Given the description of an element on the screen output the (x, y) to click on. 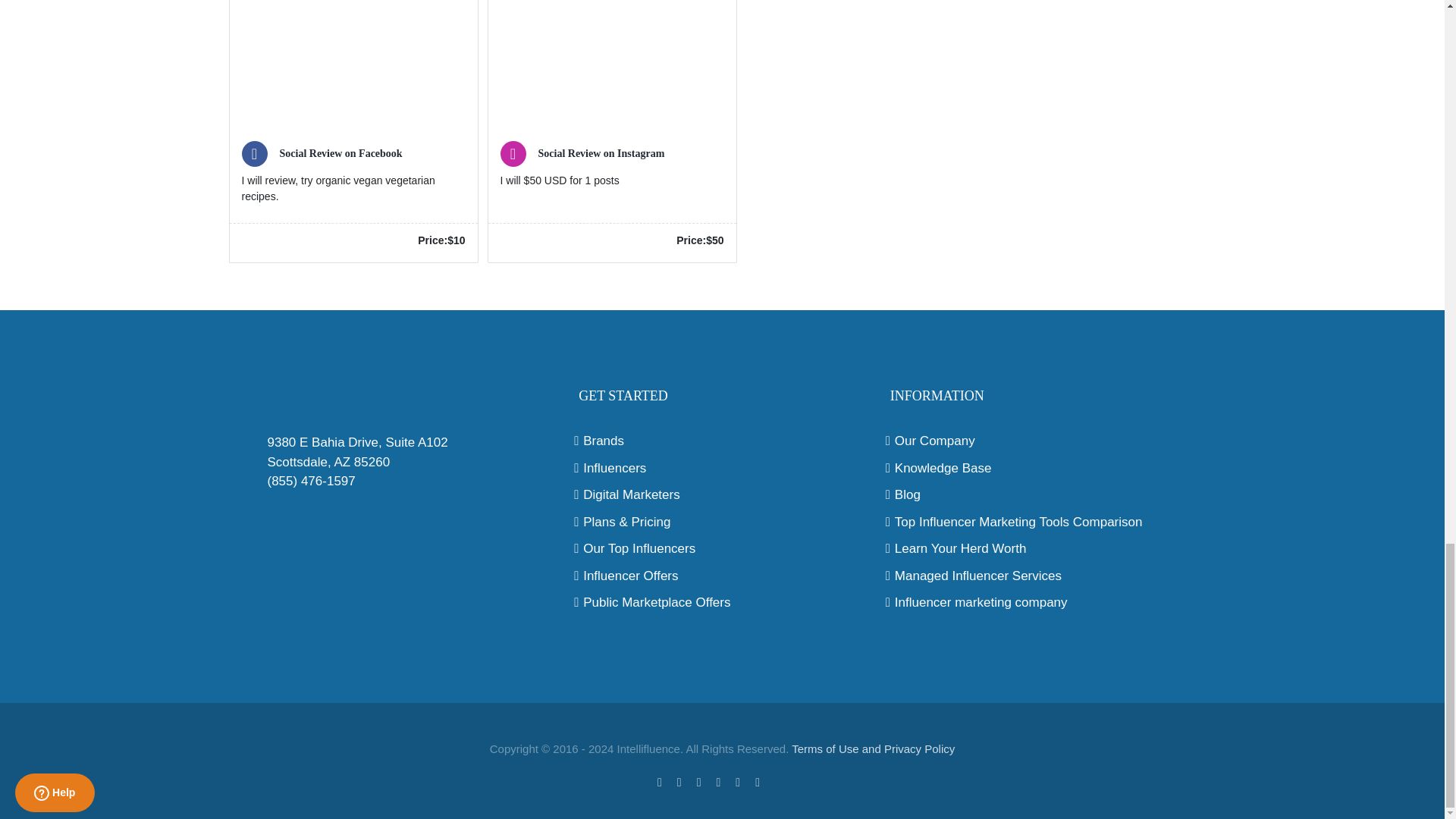
Brands (722, 441)
Influencer Offers (722, 576)
Our Top Influencers (722, 548)
Digital Marketers (722, 495)
Influencers (722, 468)
